Given the description of an element on the screen output the (x, y) to click on. 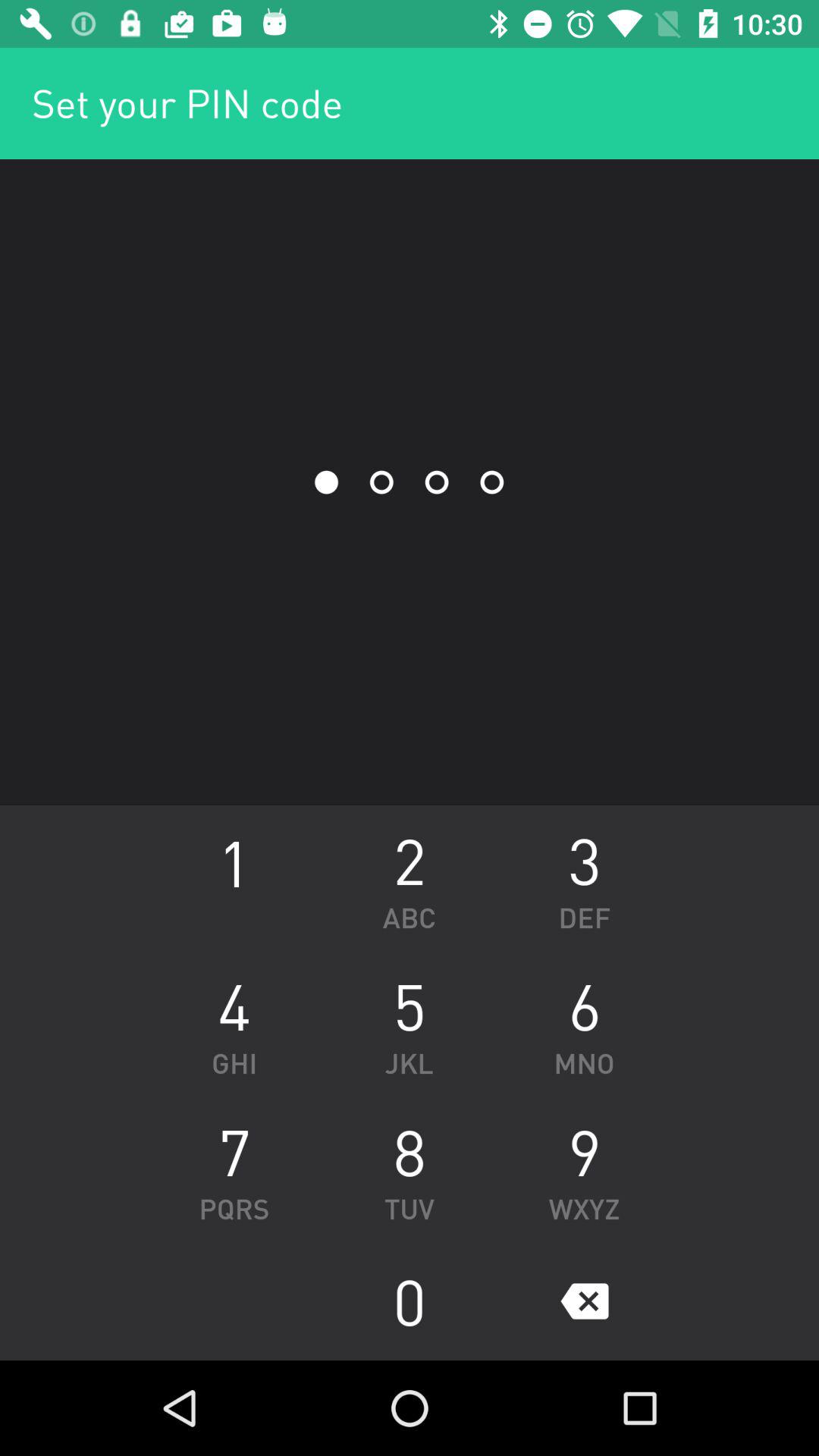
flip to the 1 (233, 877)
